Given the description of an element on the screen output the (x, y) to click on. 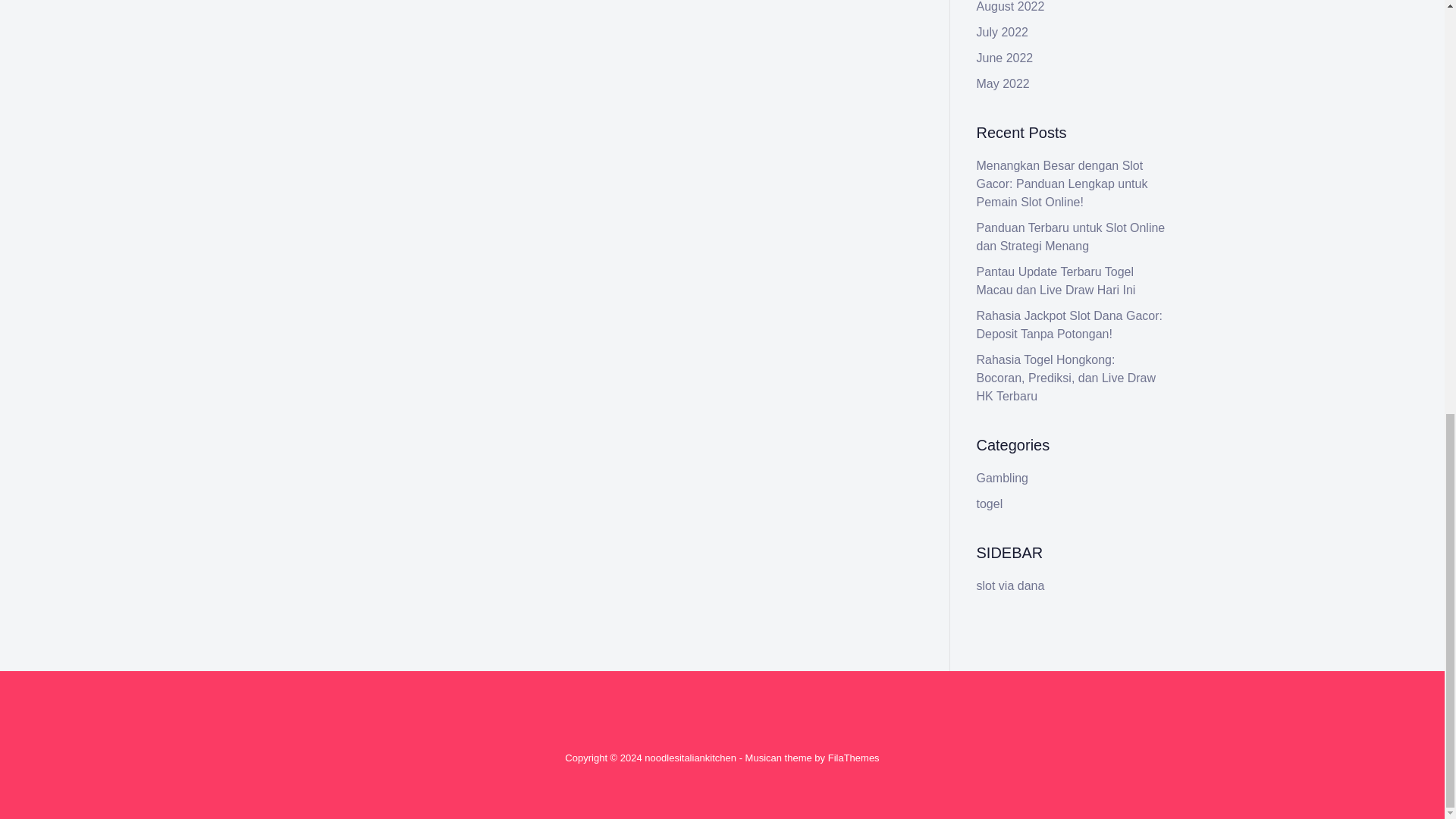
noodlesitaliankitchen (690, 757)
Pantau Update Terbaru Togel Macau dan Live Draw Hari Ini (1055, 280)
August 2022 (1010, 6)
May 2022 (1002, 83)
June 2022 (1004, 57)
July 2022 (1002, 31)
Panduan Terbaru untuk Slot Online dan Strategi Menang (1071, 236)
